Given the description of an element on the screen output the (x, y) to click on. 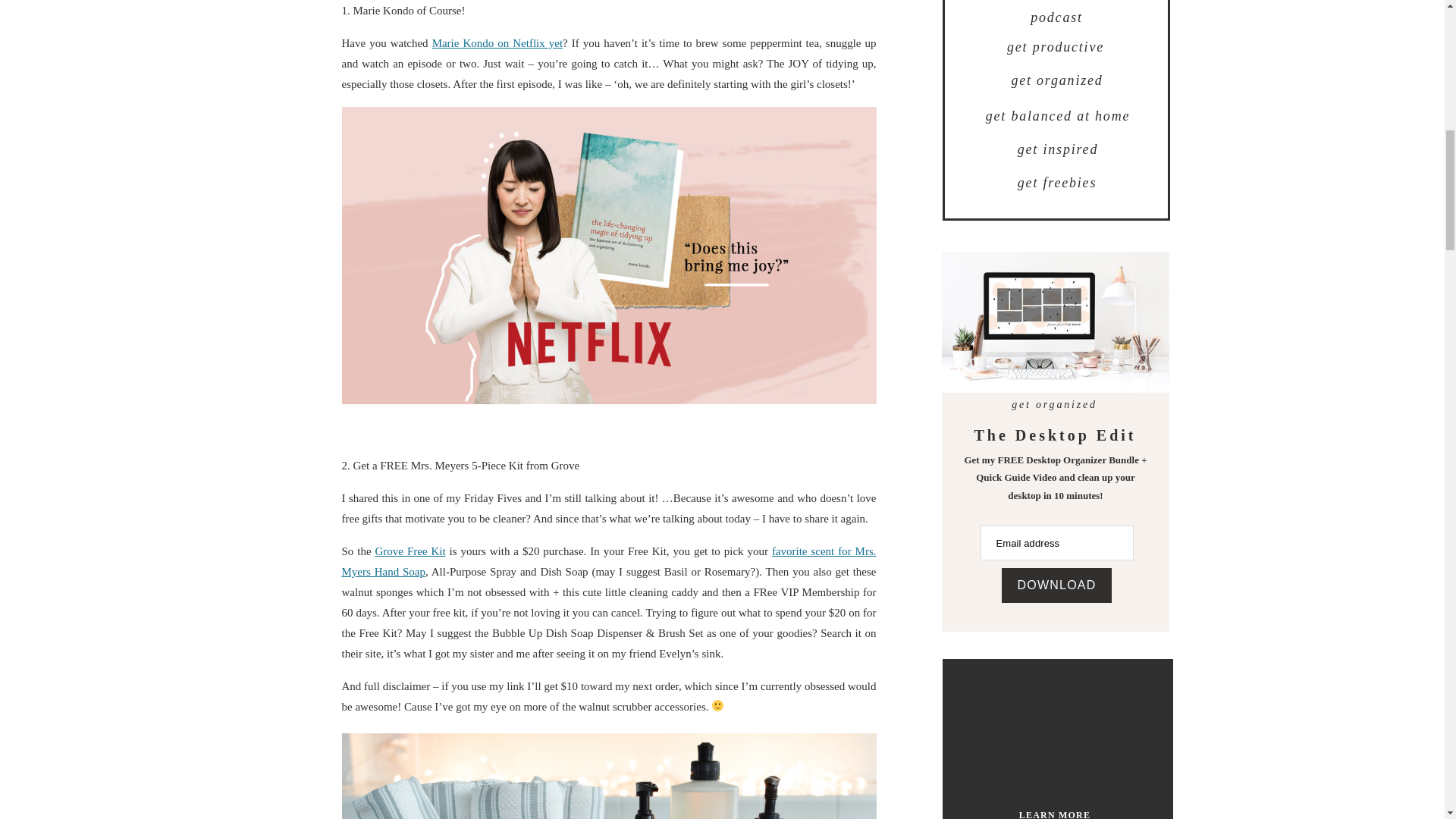
podcast (1056, 17)
favorite scent for Mrs. Myers Hand Soap (608, 561)
Grove Free Kit (409, 551)
Marie Kondo on Netflix yet (497, 42)
DOWNLOAD (1056, 585)
get productive (1055, 47)
get organized (1056, 80)
get balanced at home (1058, 116)
LEARN MORE (1053, 814)
get freebies (1056, 183)
get inspired (1058, 149)
